Given the description of an element on the screen output the (x, y) to click on. 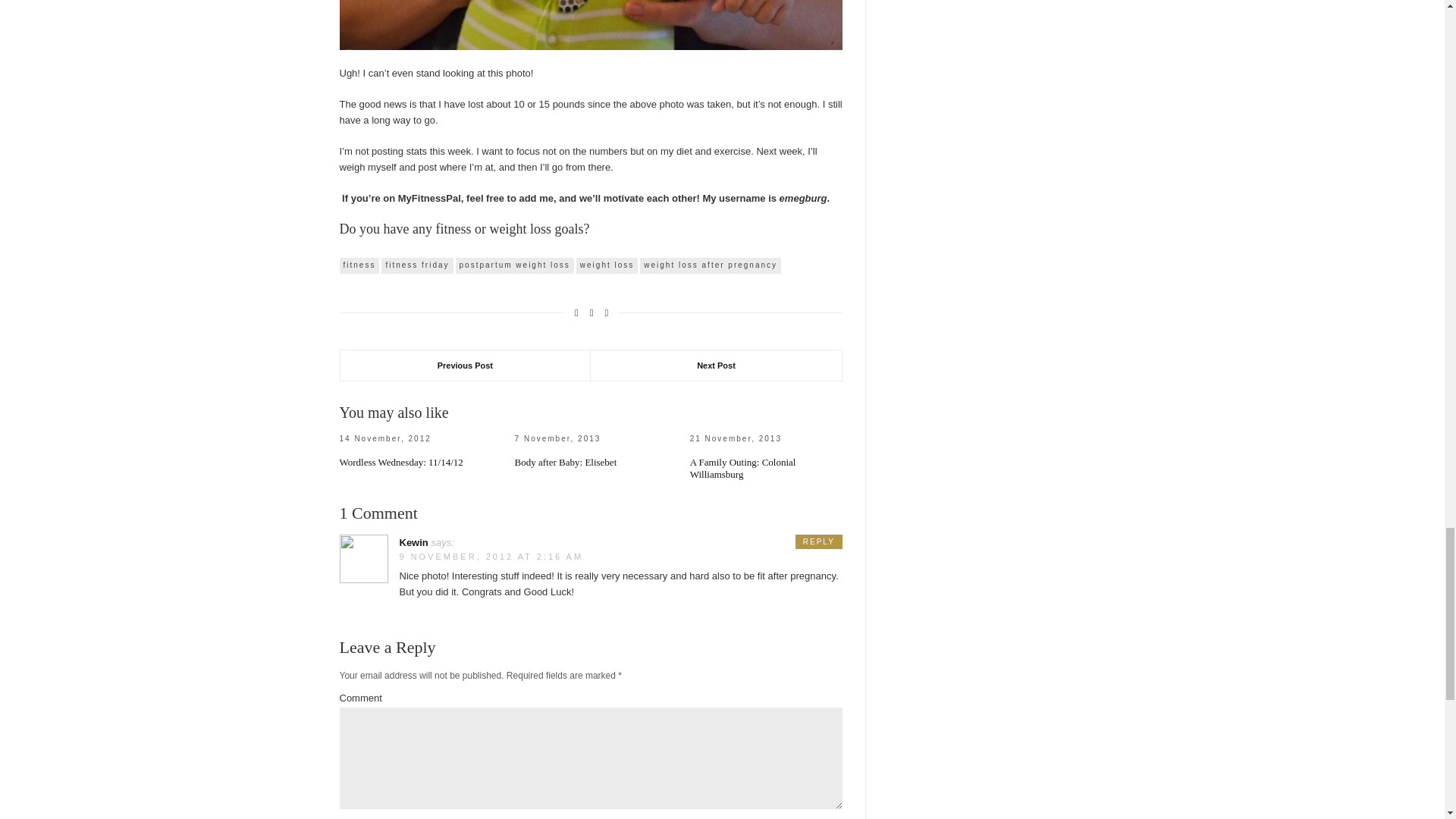
postpartum weight loss (514, 264)
fitness friday (416, 264)
fitness (359, 264)
weight loss (606, 264)
After Baby (591, 24)
Previous Post (465, 365)
Next Post (716, 365)
weight loss after pregnancy (710, 264)
